Given the description of an element on the screen output the (x, y) to click on. 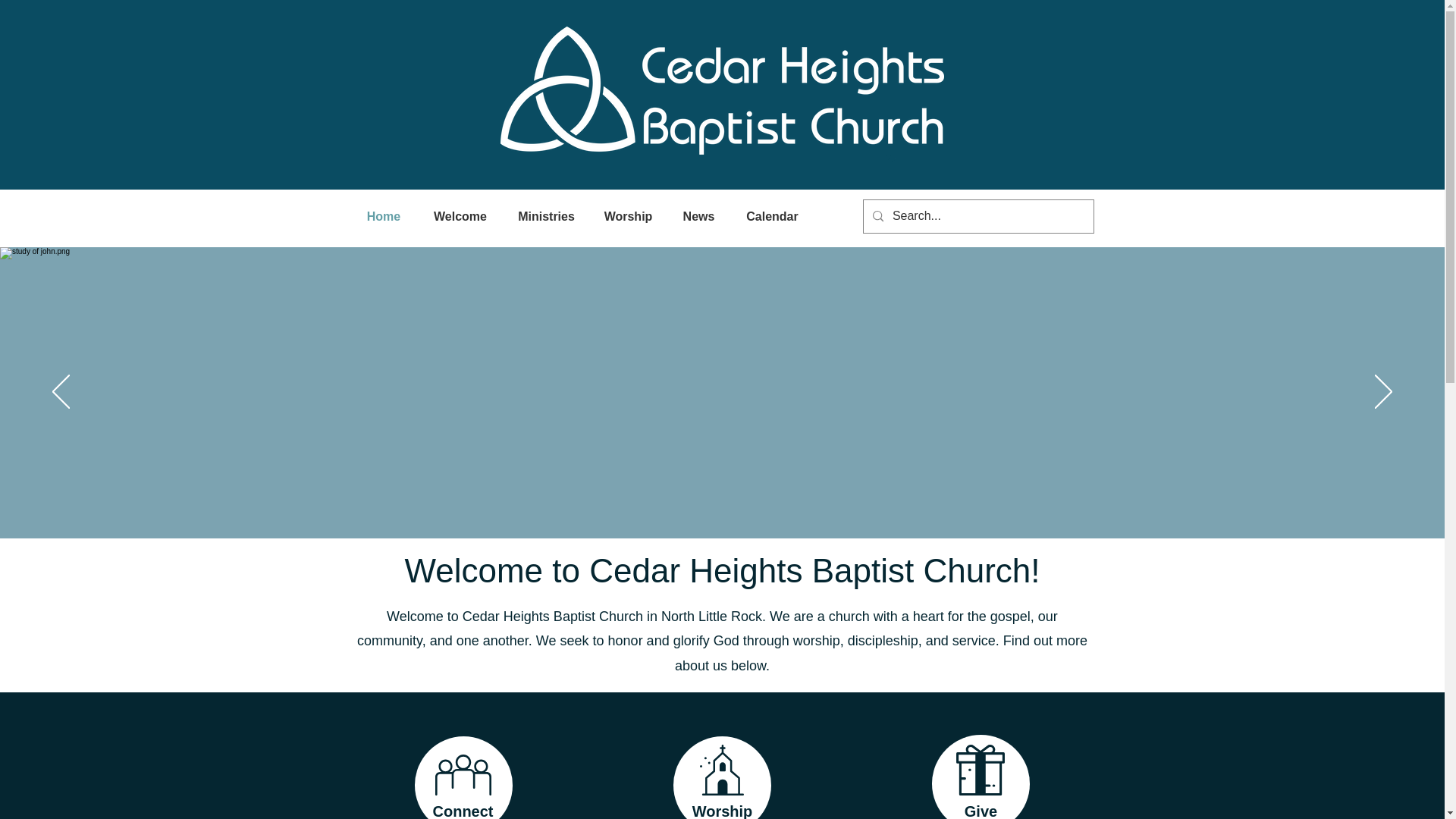
Worship (722, 811)
Connect (462, 811)
Home (383, 216)
Welcome (459, 216)
Calendar (771, 216)
News (697, 216)
Ministries (545, 216)
Give (980, 811)
Worship (627, 216)
